Given the description of an element on the screen output the (x, y) to click on. 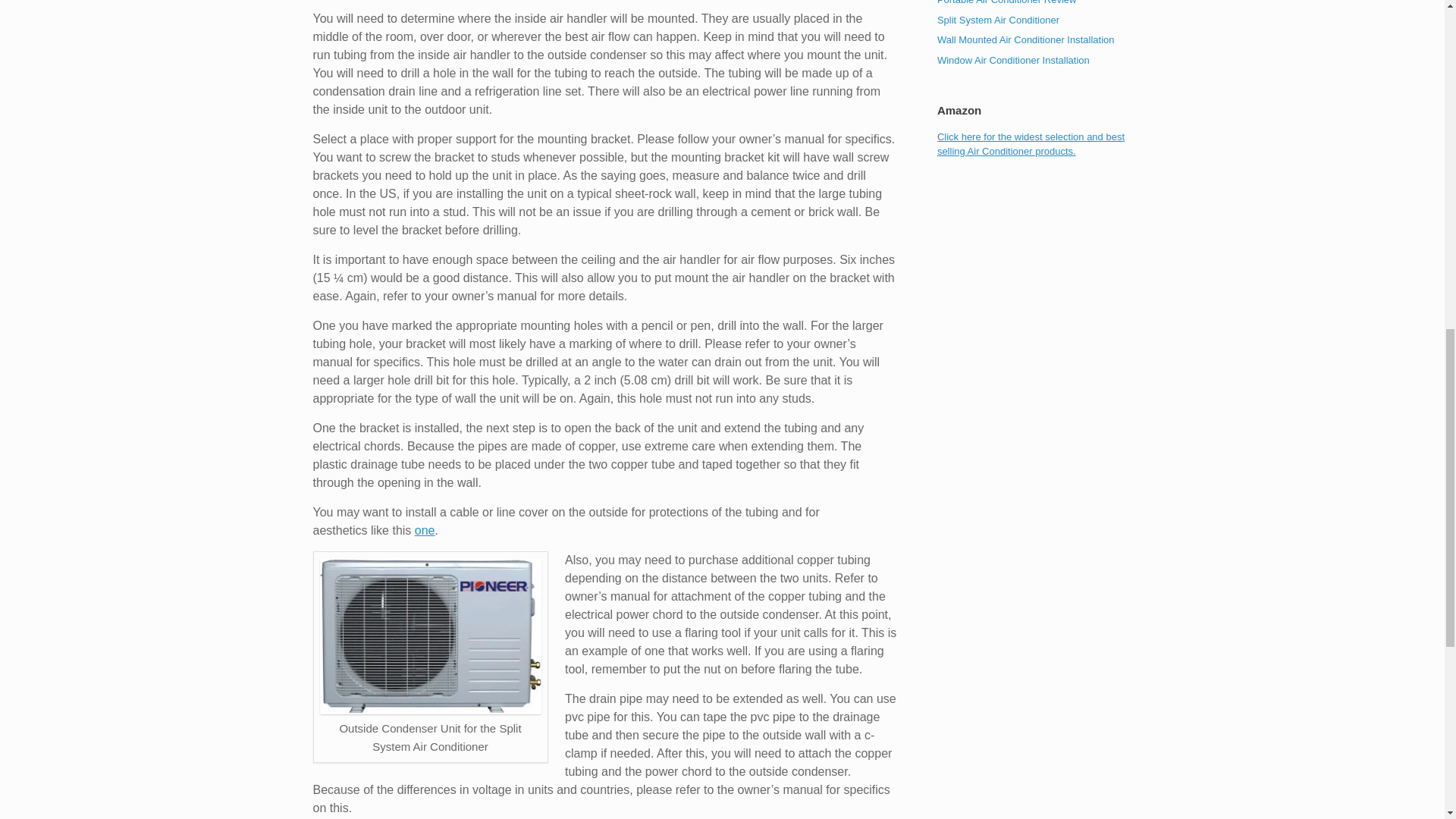
Portable Air Conditioner Review (1007, 2)
Wall Mounted Air Conditioner Installation (1026, 39)
one (424, 530)
Split System Air Conditioner (998, 19)
Window Air Conditioner Installation (1013, 60)
